Given the description of an element on the screen output the (x, y) to click on. 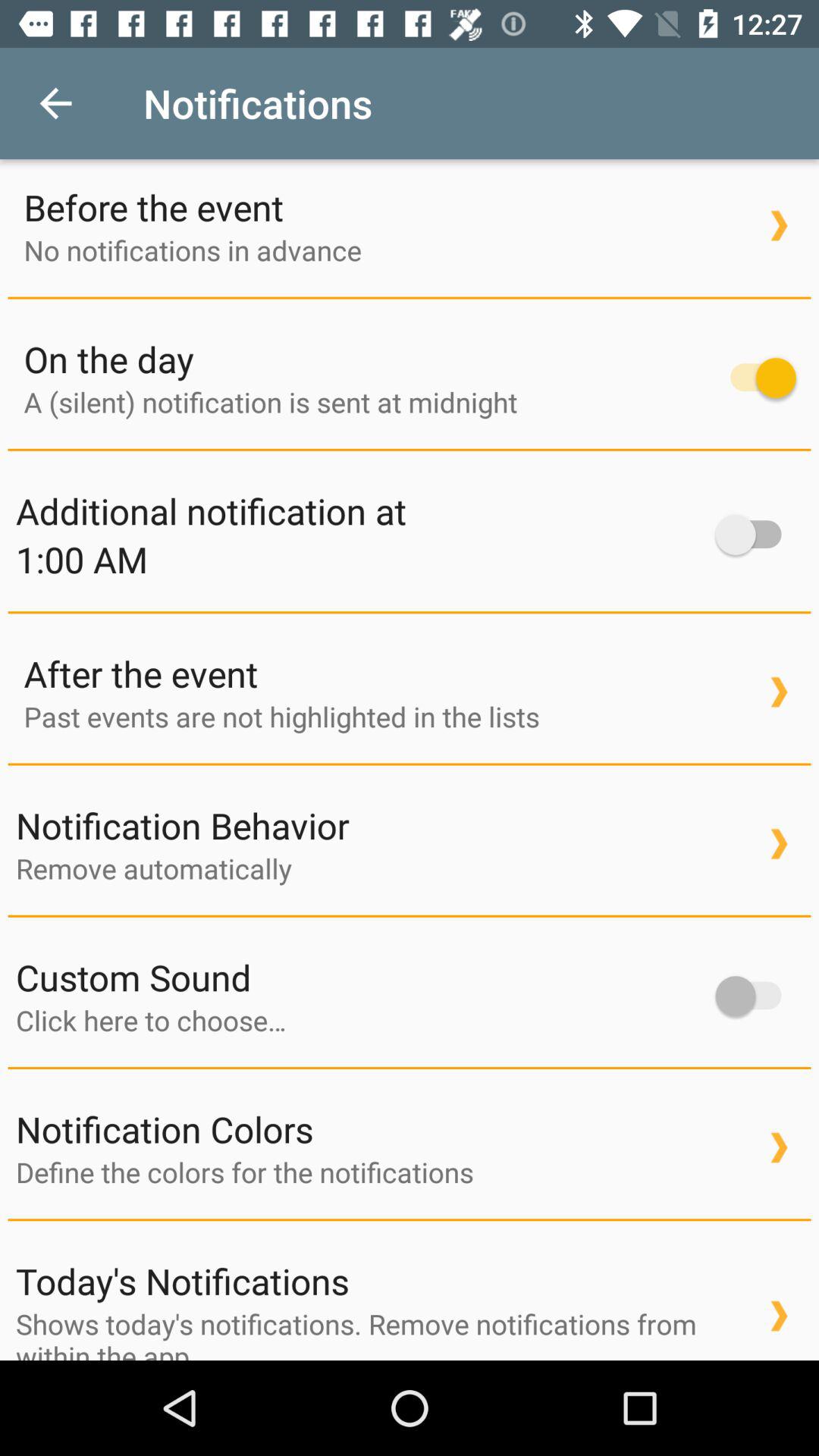
open the item to the left of notifications item (55, 103)
